Given the description of an element on the screen output the (x, y) to click on. 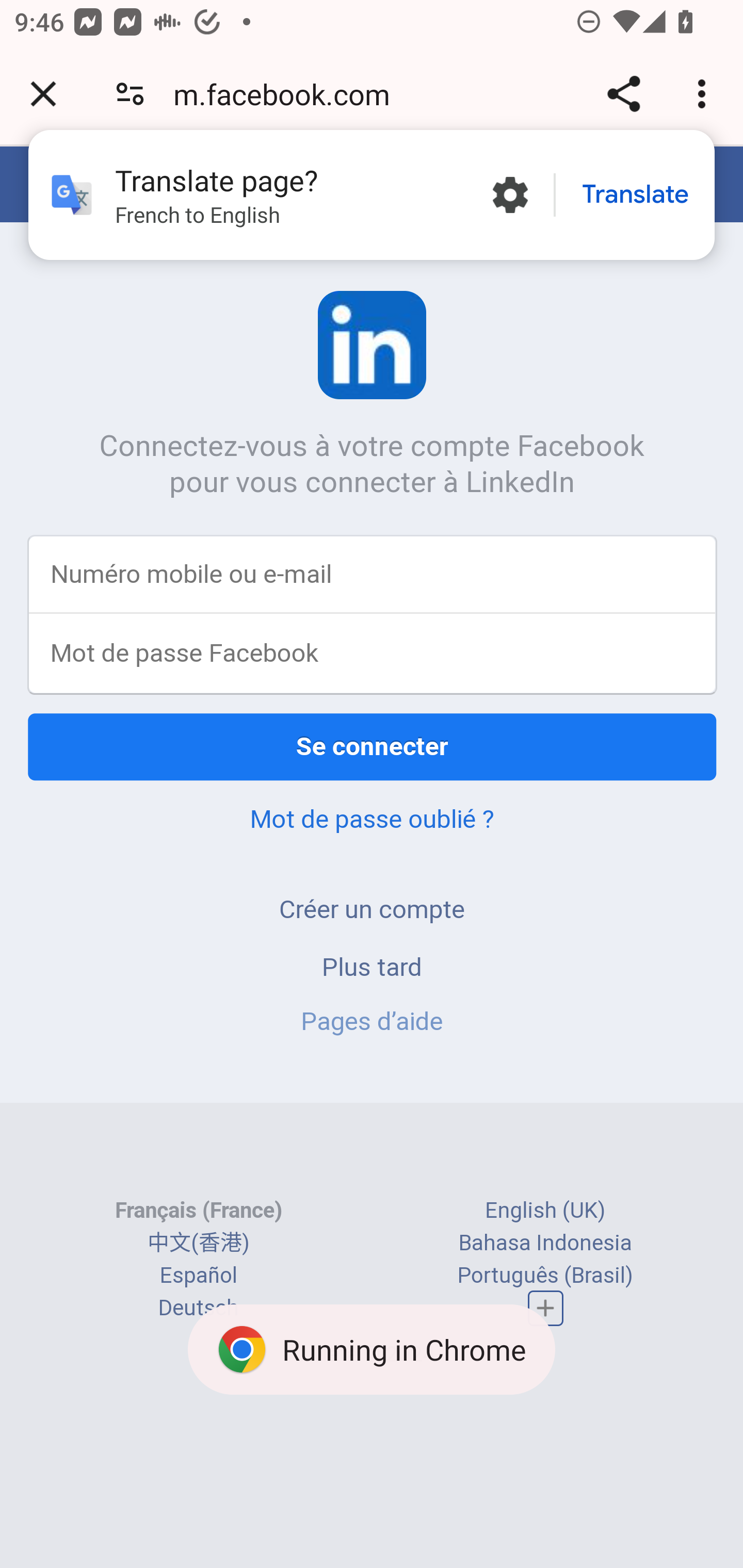
Close tab (43, 93)
Share (623, 93)
Customize and control Google Chrome (705, 93)
Connection is secure (129, 93)
m.facebook.com (288, 93)
Translate (634, 195)
More options in the Translate page? (509, 195)
Se connecter (372, 747)
Mot de passe oublié ? (371, 819)
Créer un compte (371, 910)
Plus tard (372, 968)
Pages d’aide (371, 1022)
English (UK) (545, 1211)
中文(香港) (198, 1243)
Bahasa Indonesia (545, 1243)
Español (198, 1276)
Português (Brasil) (544, 1276)
Deutsch (197, 1309)
